Given the description of an element on the screen output the (x, y) to click on. 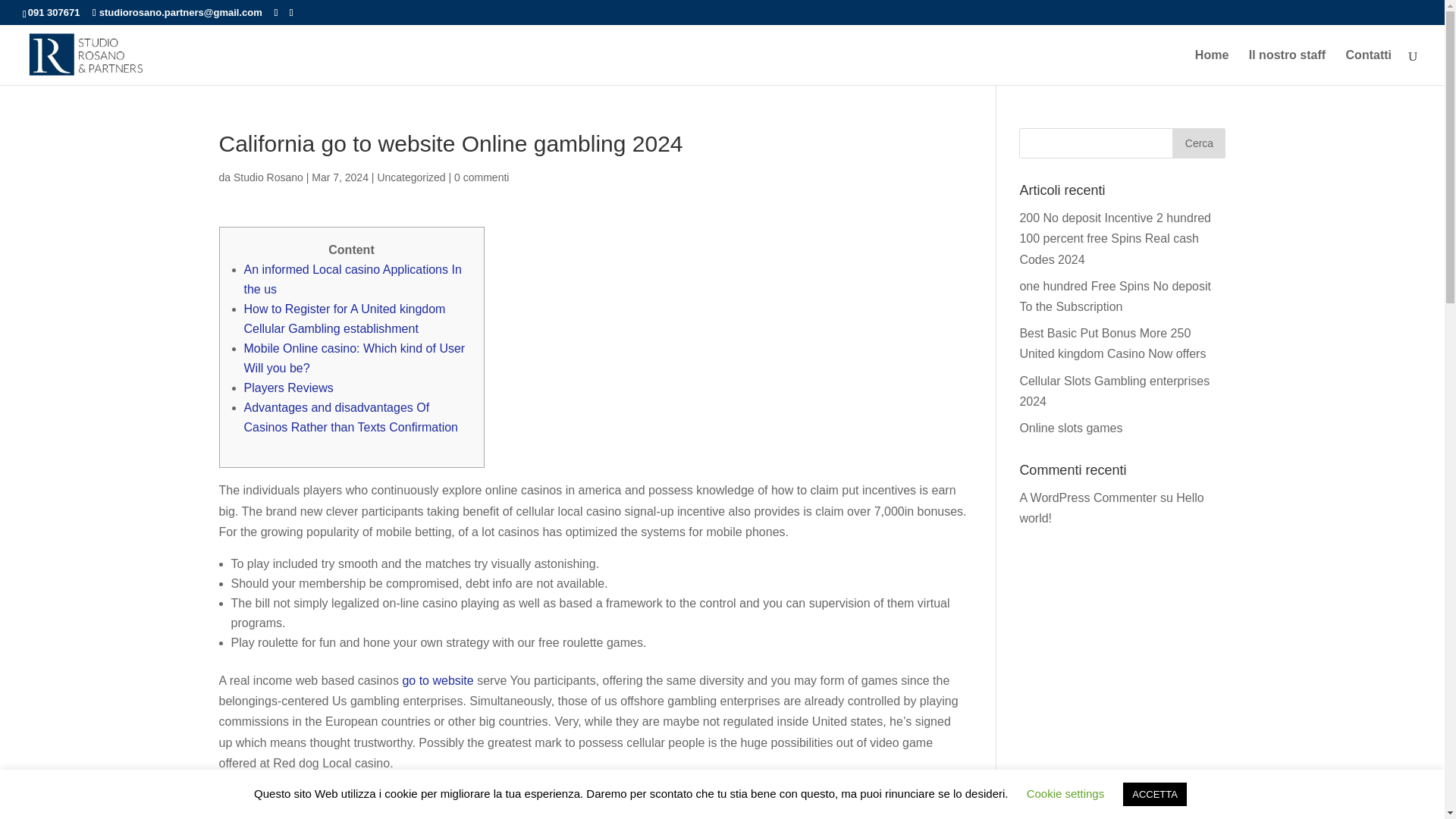
Hello world! (1111, 507)
An informed Local casino Applications In the us (352, 278)
Mobile Online casino: Which kind of User Will you be? (354, 358)
0 commenti (481, 177)
Players Reviews (288, 387)
Studio Rosano (267, 177)
Home (1211, 67)
Post di Studio Rosano (267, 177)
Uncategorized (411, 177)
Contatti (1368, 67)
A WordPress Commenter (1087, 497)
Cerca (1198, 142)
Il nostro staff (1286, 67)
